Given the description of an element on the screen output the (x, y) to click on. 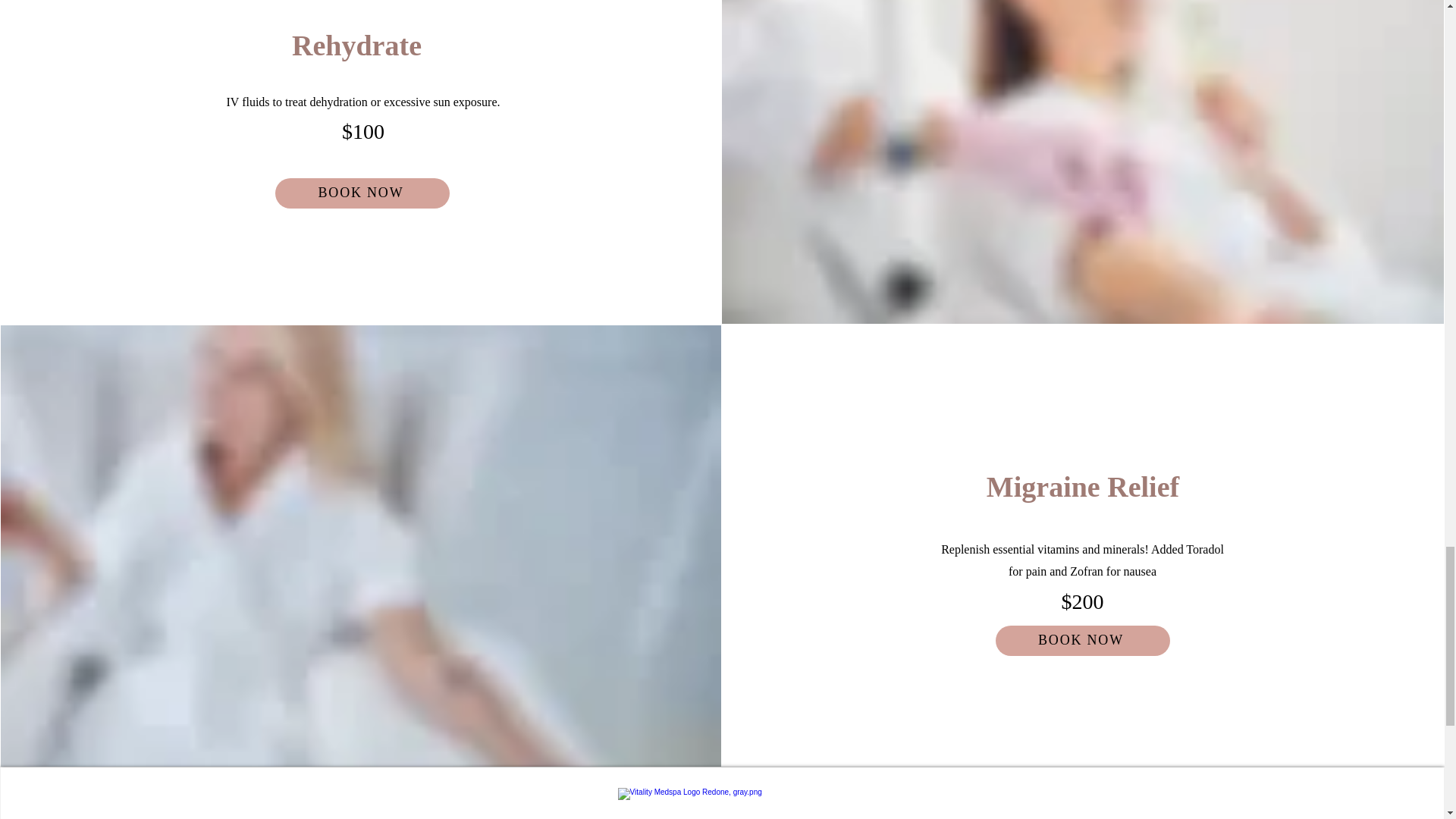
BOOK NOW (362, 193)
BOOK NOW (1082, 640)
